Given the description of an element on the screen output the (x, y) to click on. 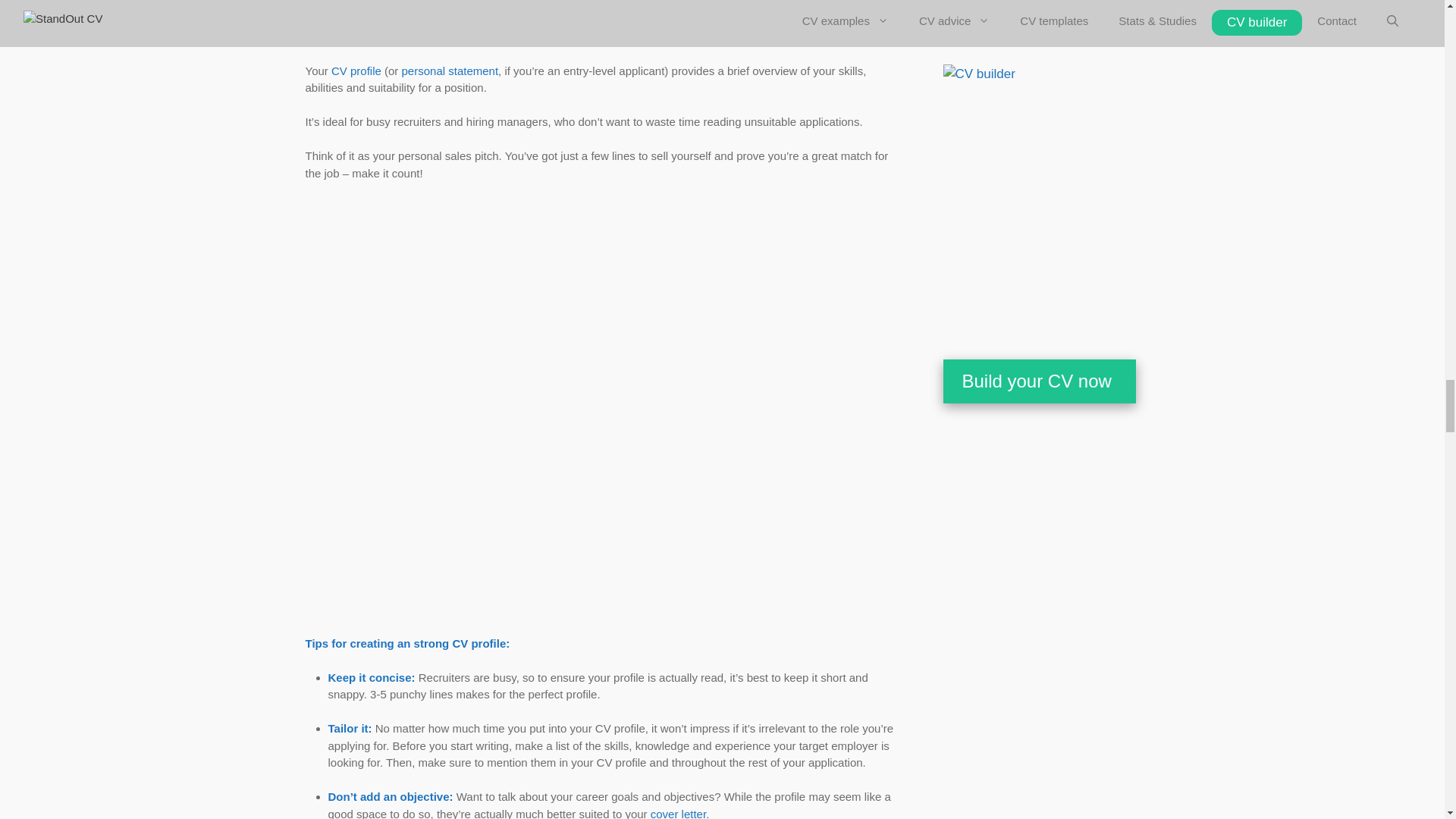
CV profile (356, 70)
cover letter (678, 813)
CV personal statement (450, 70)
